Given the description of an element on the screen output the (x, y) to click on. 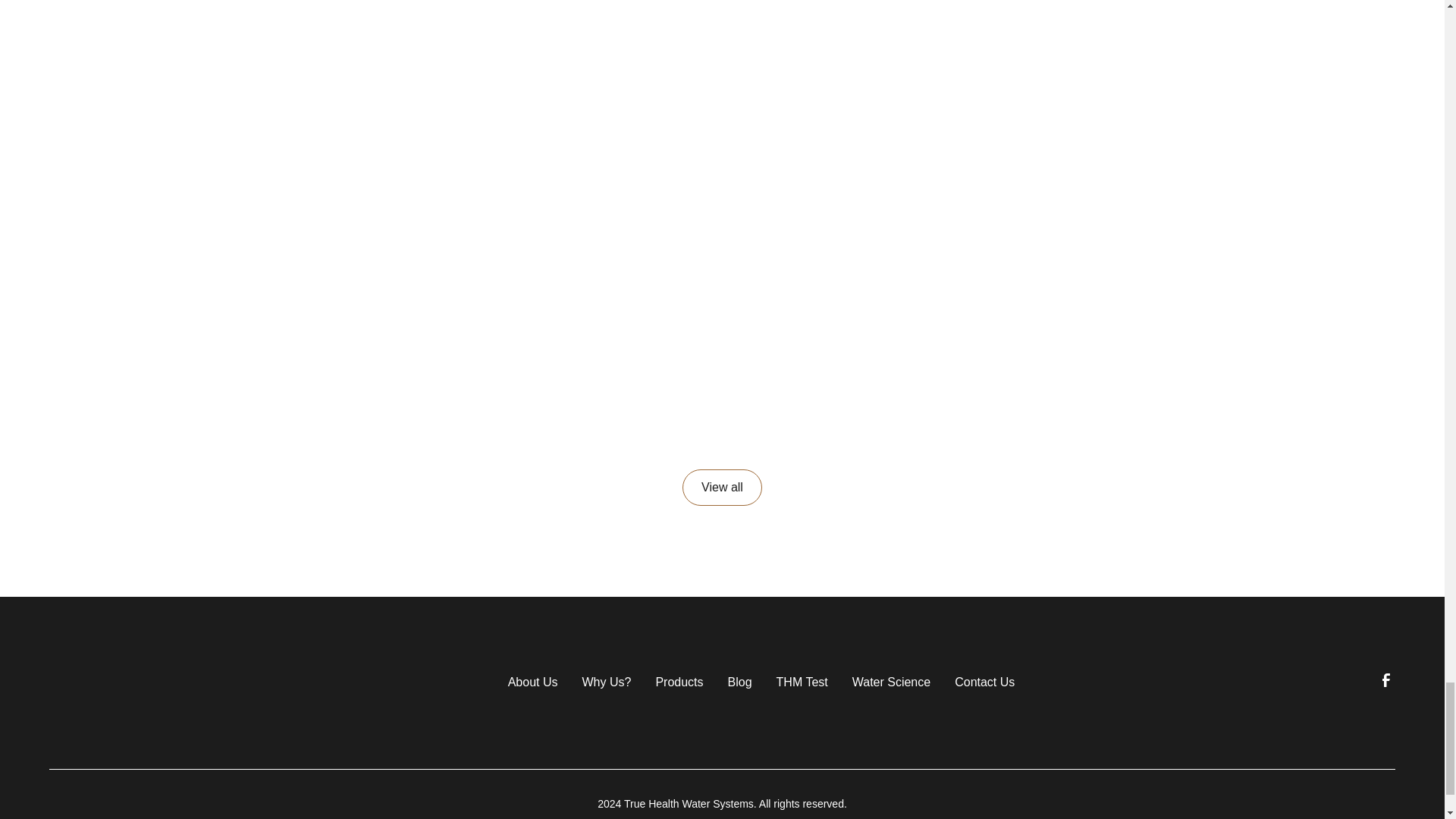
View all (721, 487)
About Us (532, 681)
THM Test (802, 681)
Products (679, 681)
Why Us? (605, 681)
